Given the description of an element on the screen output the (x, y) to click on. 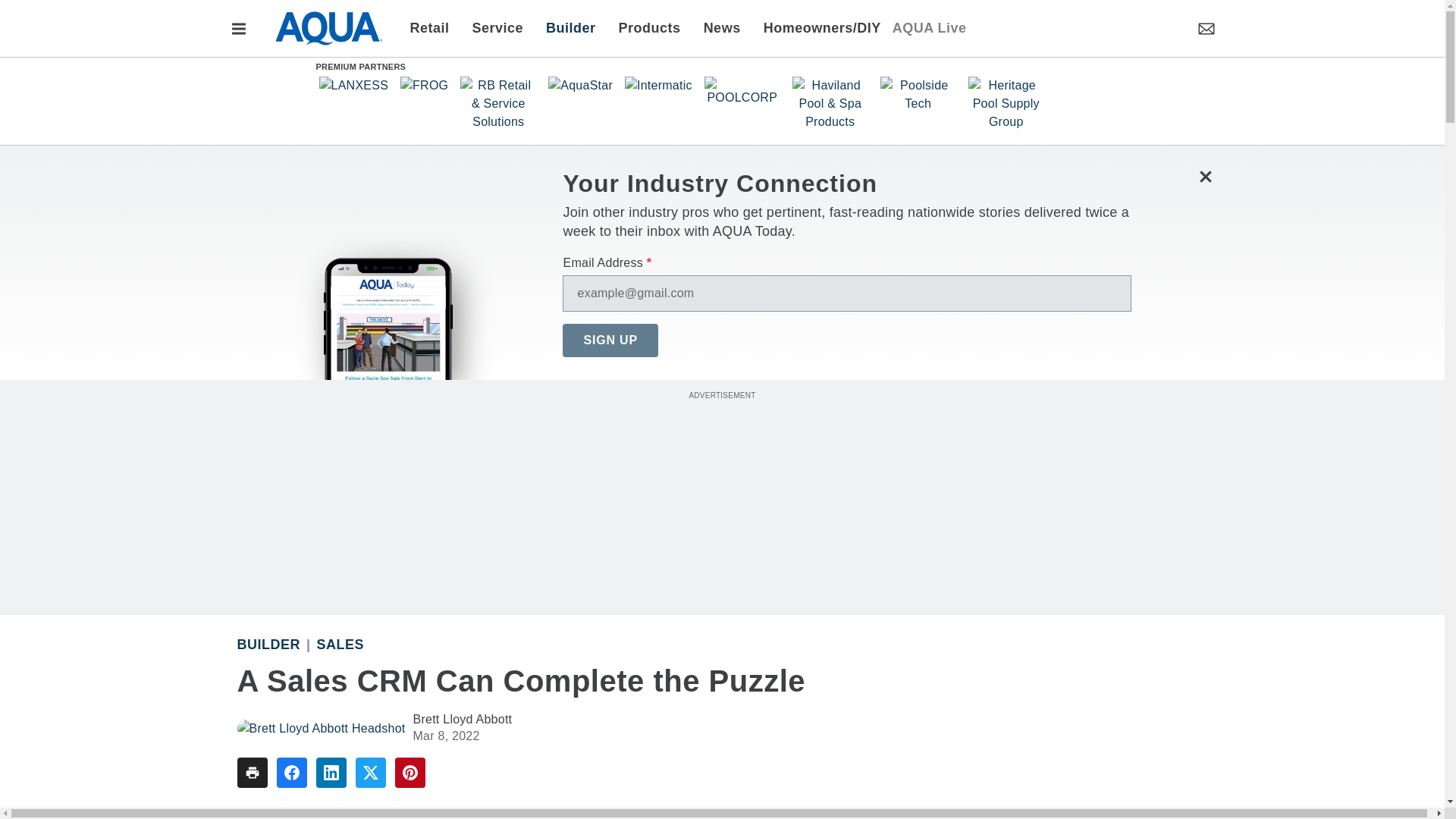
News (722, 27)
AQUA Live (929, 27)
LANXESS (353, 85)
Products (650, 27)
Service (498, 27)
FROG (424, 85)
Builder (570, 27)
Retail (434, 27)
